Given the description of an element on the screen output the (x, y) to click on. 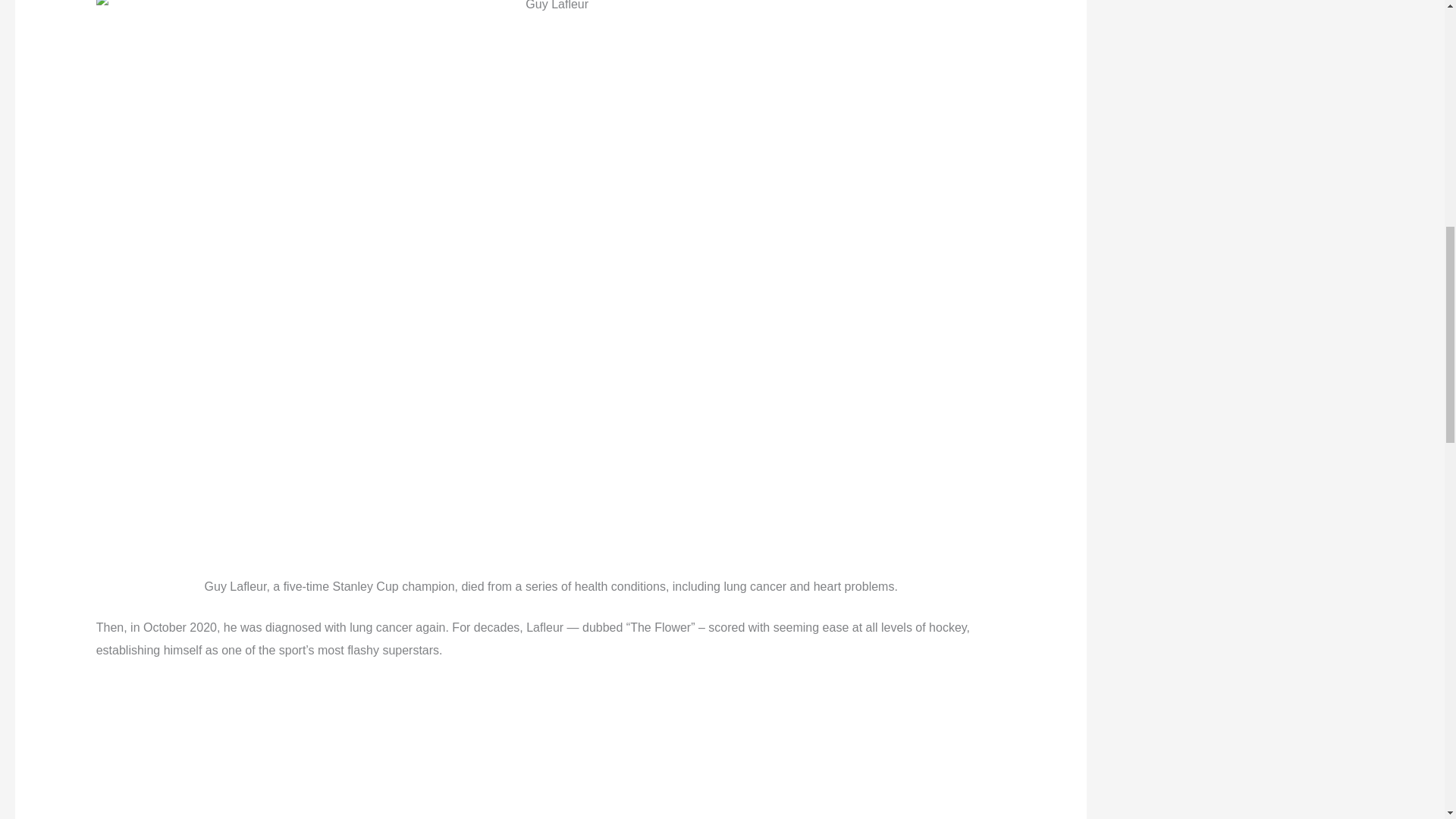
Advertisement (550, 749)
